Given the description of an element on the screen output the (x, y) to click on. 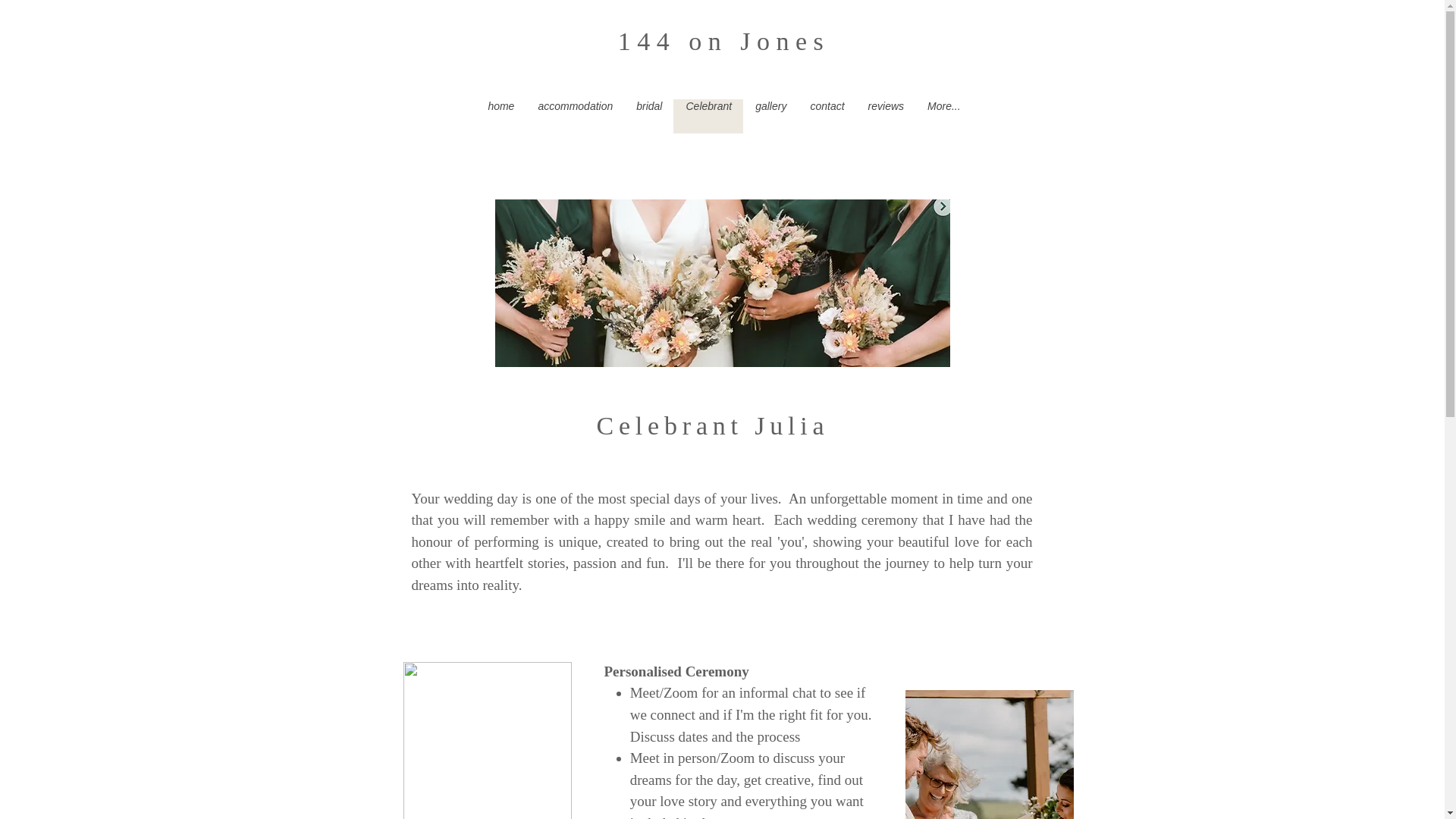
gallery Element type: text (770, 116)
accommodation Element type: text (574, 116)
reviews Element type: text (885, 116)
home Element type: text (500, 116)
144 on Jones Element type: text (724, 41)
Celebrant Element type: text (708, 116)
Screen Shot 2022-02-09 at 5.50.59 PM.jpe Element type: hover (721, 283)
bridal Element type: text (648, 116)
contact Element type: text (826, 116)
